Given the description of an element on the screen output the (x, y) to click on. 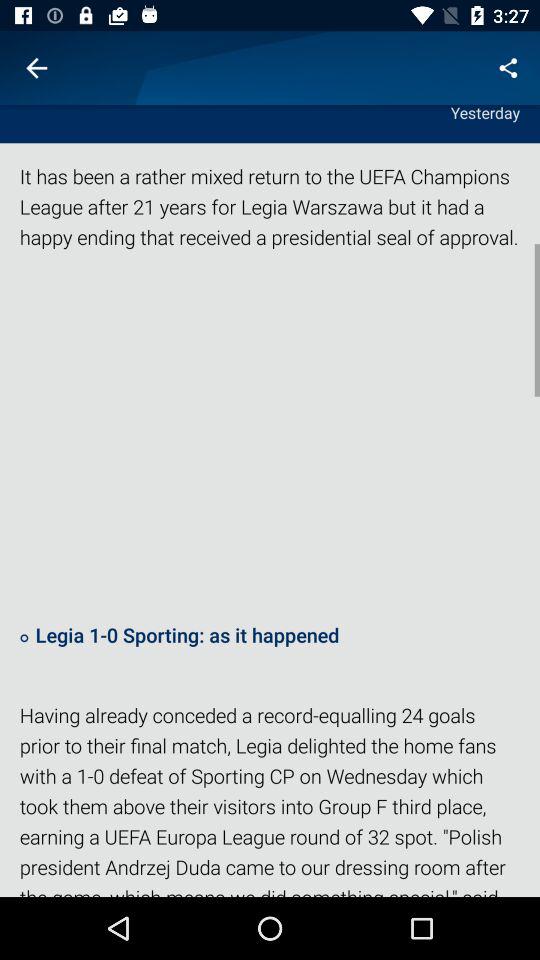
select having already conceded icon (269, 797)
